Given the description of an element on the screen output the (x, y) to click on. 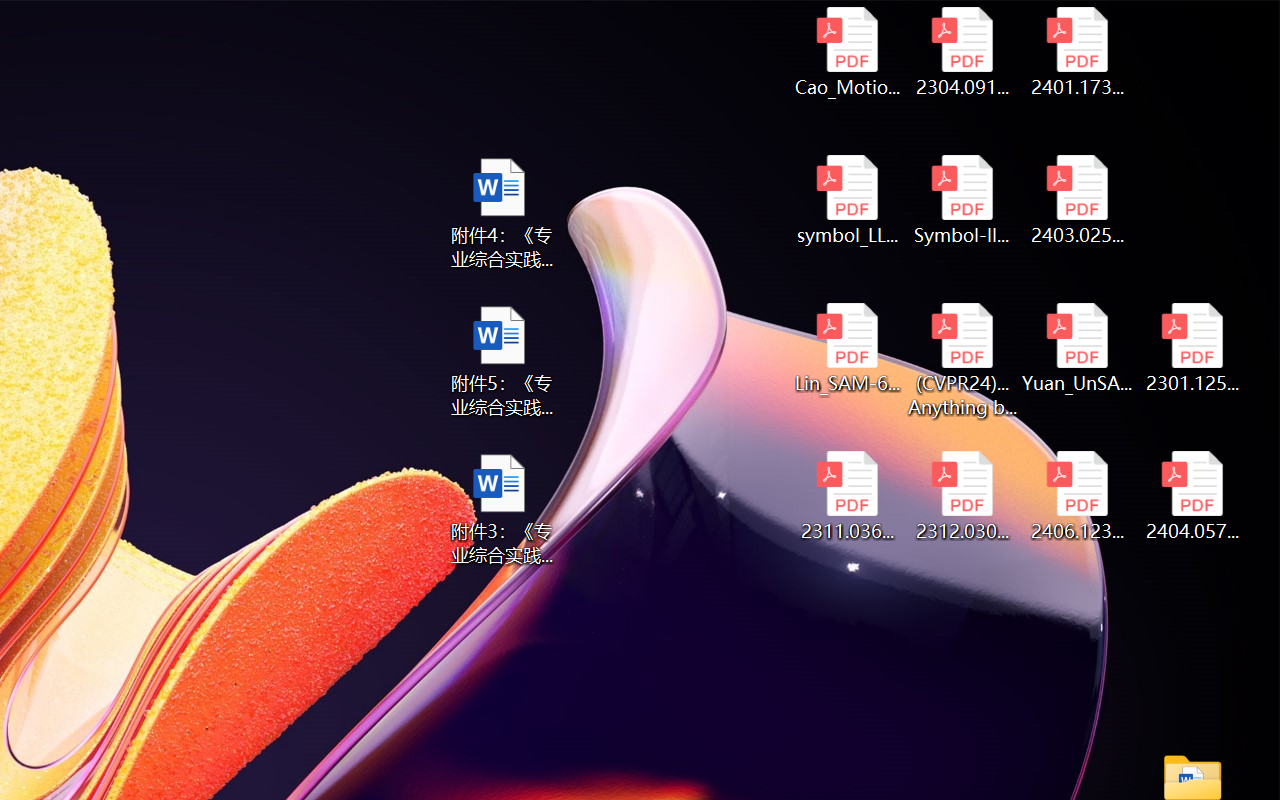
2304.09121v3.pdf (962, 52)
2403.02502v1.pdf (1077, 200)
2406.12373v2.pdf (1077, 496)
2312.03032v2.pdf (962, 496)
Symbol-llm-v2.pdf (962, 200)
(CVPR24)Matching Anything by Segmenting Anything.pdf (962, 360)
2301.12597v3.pdf (1192, 348)
symbol_LLM.pdf (846, 200)
2311.03658v2.pdf (846, 496)
2404.05719v1.pdf (1192, 496)
2401.17399v1.pdf (1077, 52)
